Given the description of an element on the screen output the (x, y) to click on. 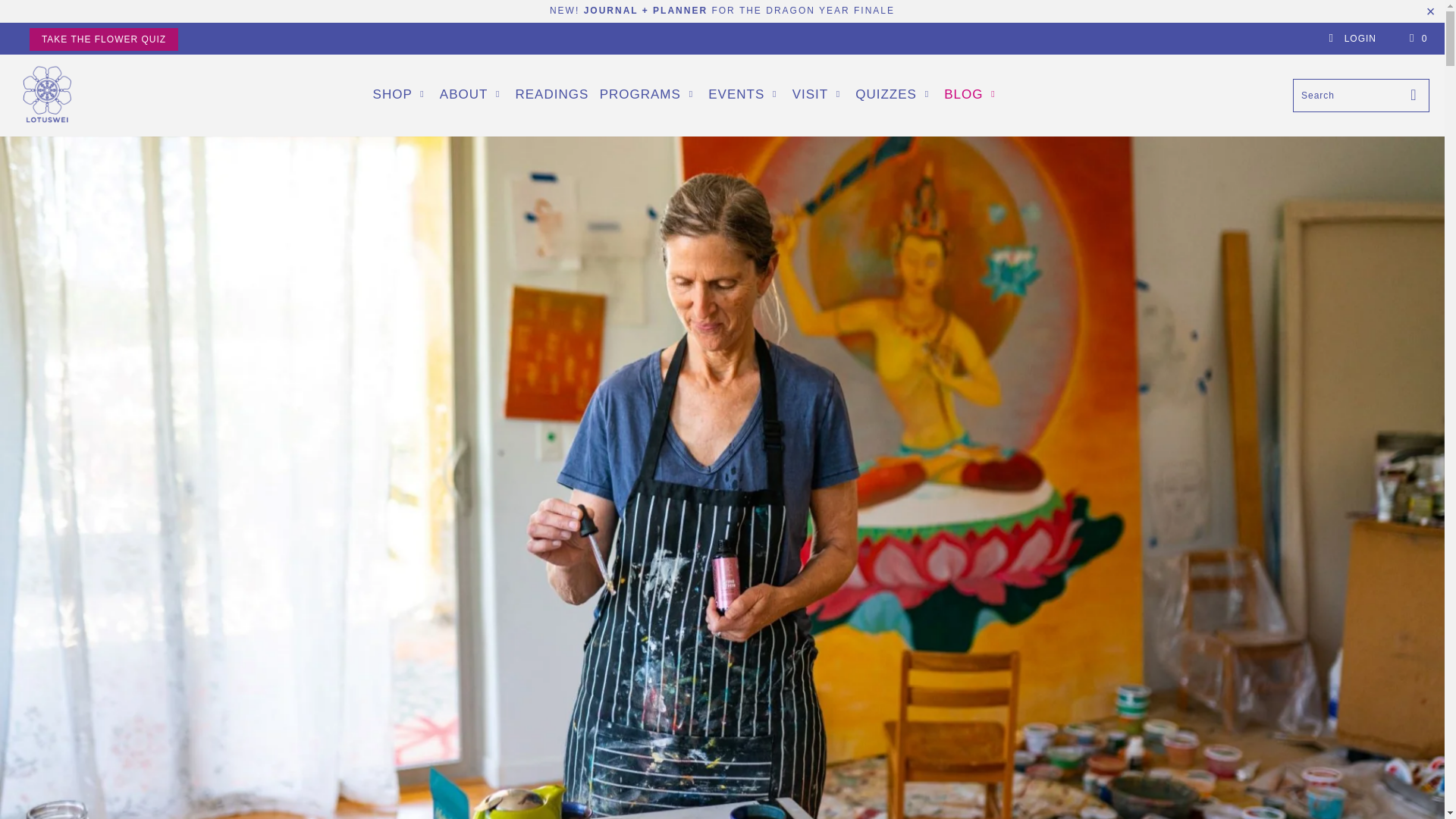
LOTUSWEI (47, 95)
My Account  (1351, 38)
